Given the description of an element on the screen output the (x, y) to click on. 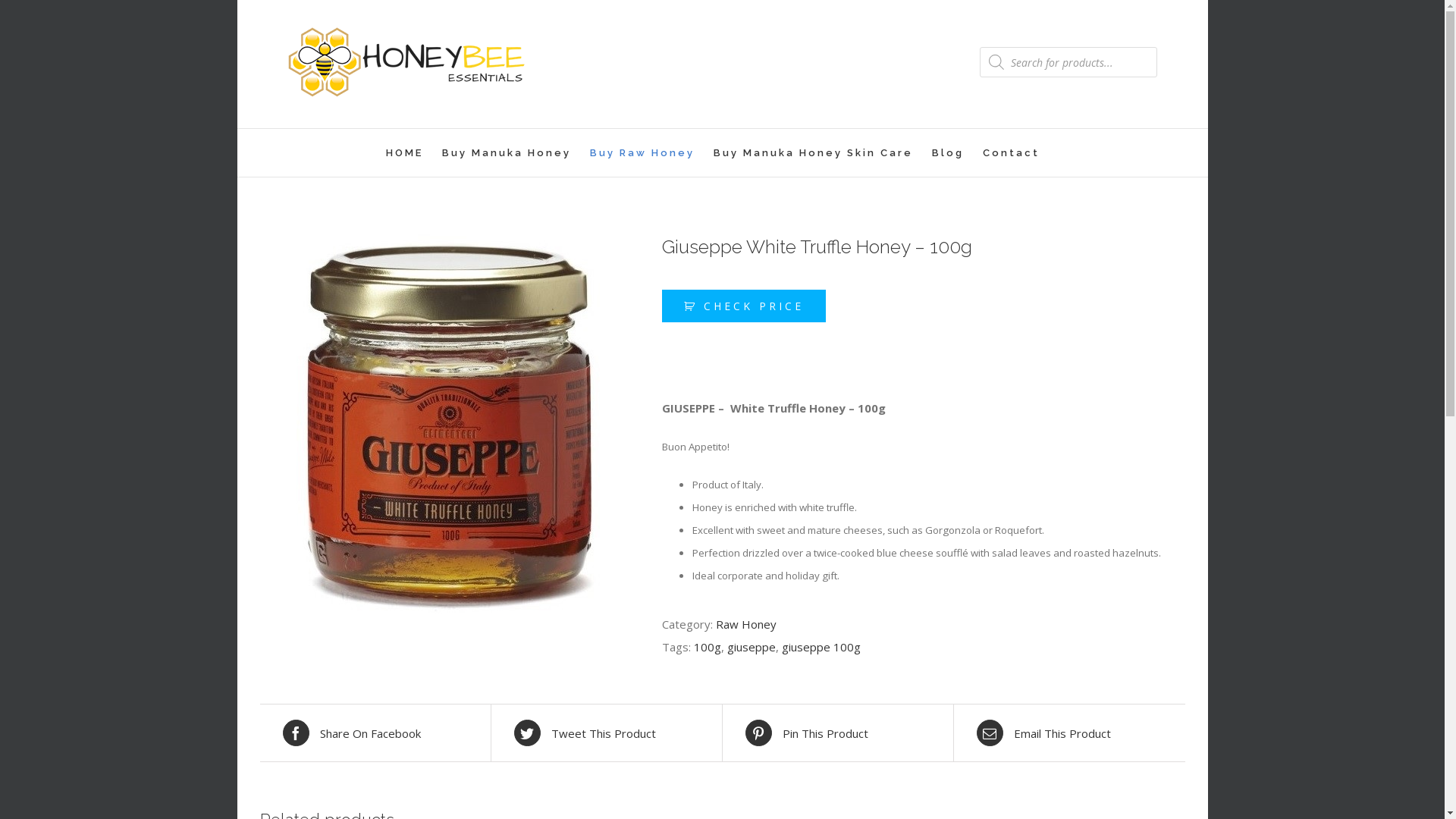
Pin This Product Element type: text (836, 732)
Buy Raw Honey Element type: text (641, 152)
Contact Element type: text (1010, 152)
Buy Manuka Honey Element type: text (506, 152)
Email This Product Element type: text (1069, 732)
HOME Element type: text (404, 152)
Raw Honey Element type: text (745, 623)
Tweet This Product Element type: text (606, 732)
giuseppe 100g Element type: text (820, 646)
giuseppe Element type: text (750, 646)
CHECK PRICE Element type: text (743, 305)
Share On Facebook Element type: text (374, 732)
Buy Manuka Honey Skin Care Element type: text (813, 152)
Blog Element type: text (947, 152)
100g Element type: text (706, 646)
GIUSEPPE - White Truffle Honey - 100g Element type: hover (448, 423)
